Given the description of an element on the screen output the (x, y) to click on. 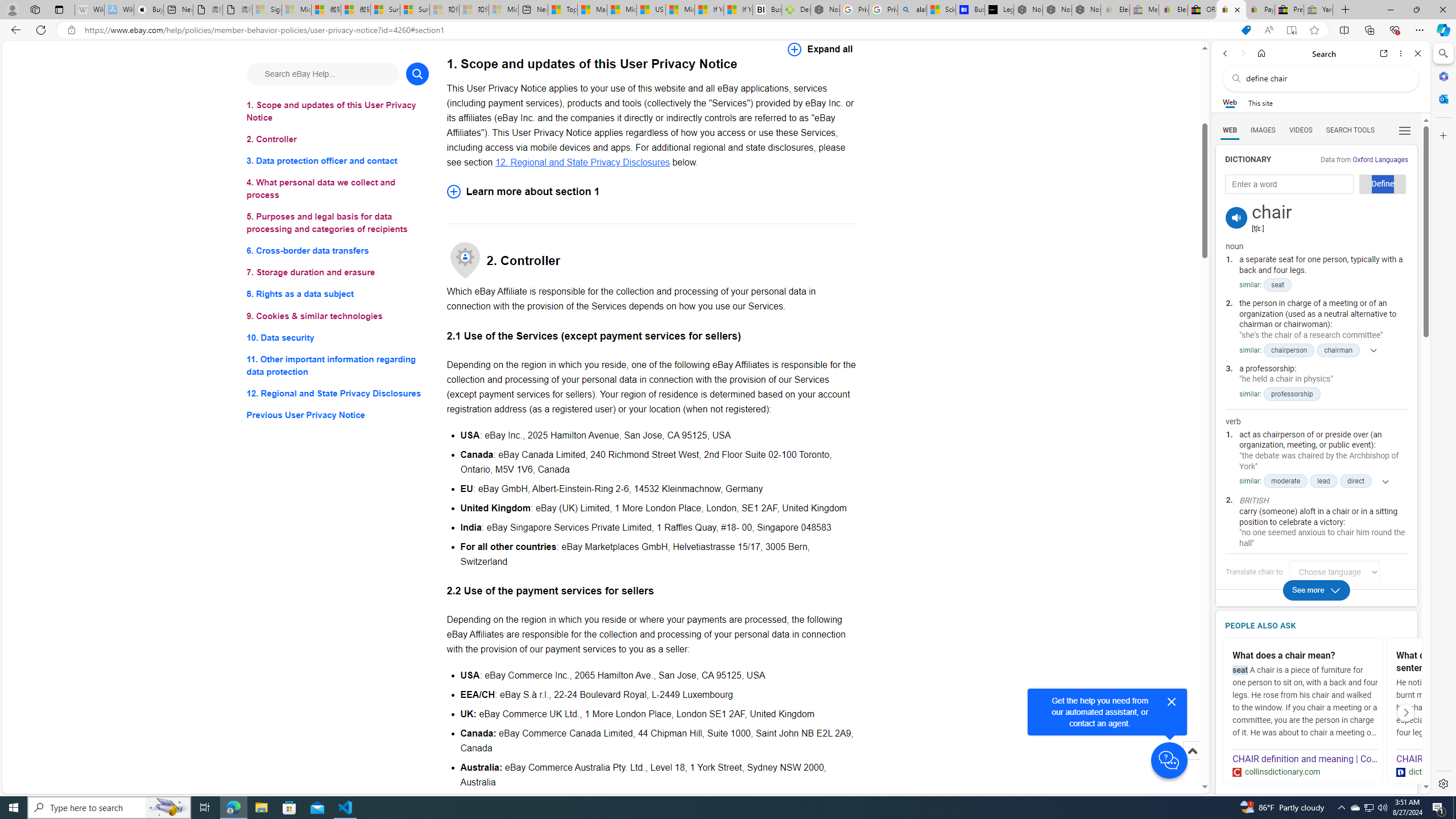
2. Controller (337, 138)
10. Data security (337, 336)
10. Data security (337, 336)
